Given the description of an element on the screen output the (x, y) to click on. 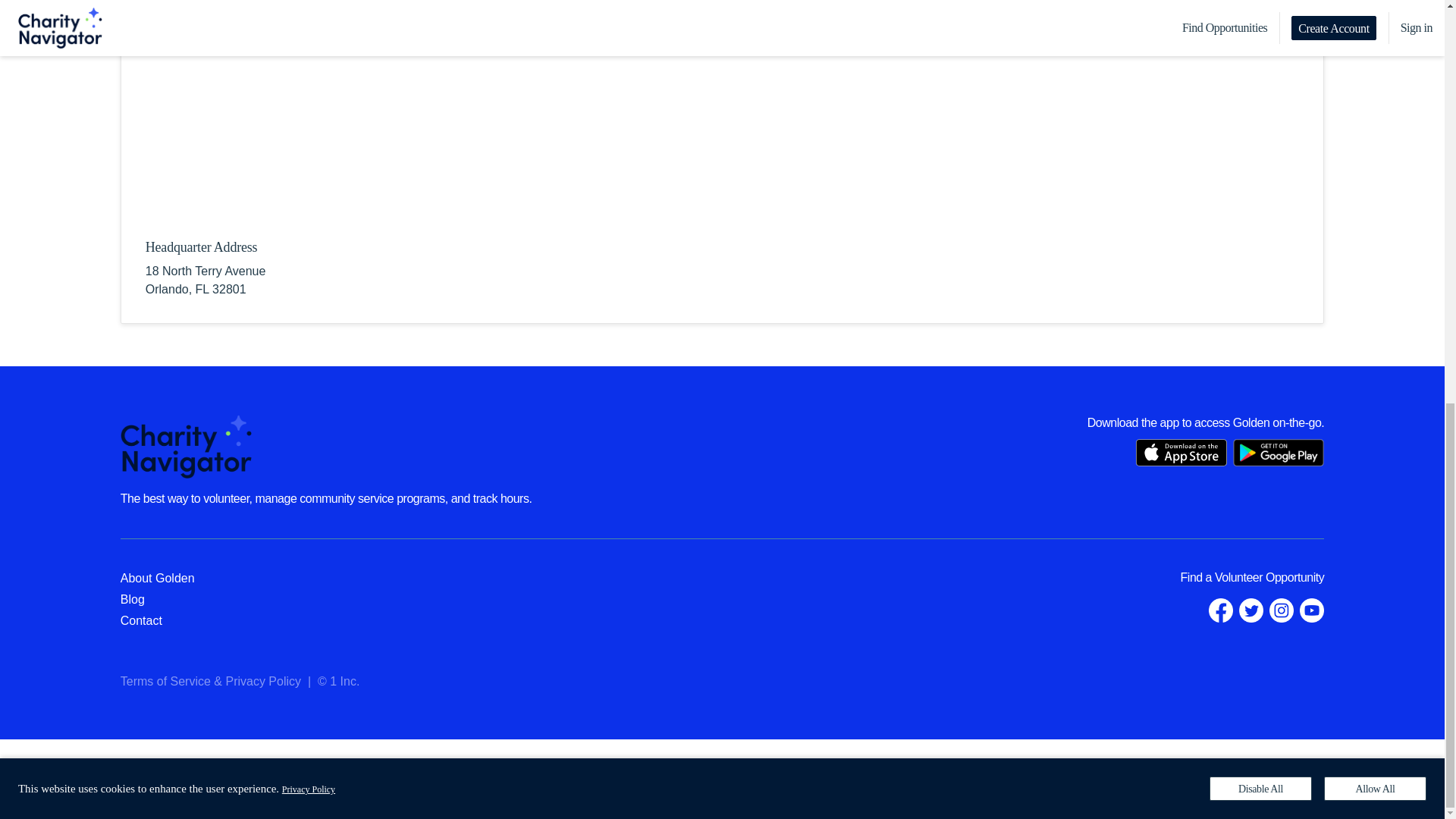
Visit Us On Facebook (1220, 609)
Allow All (1374, 3)
Visit Us On Twitter (1251, 609)
Contact (140, 620)
Disable All (1260, 3)
Privacy Policy (263, 680)
About Golden (157, 577)
Blog (132, 599)
Volunteer Opportunity (1268, 576)
Privacy Policy (308, 0)
Visit Us On Instagram (1281, 609)
Terms of Service (165, 680)
Blog (132, 599)
Contact (140, 620)
About Golden (157, 577)
